Given the description of an element on the screen output the (x, y) to click on. 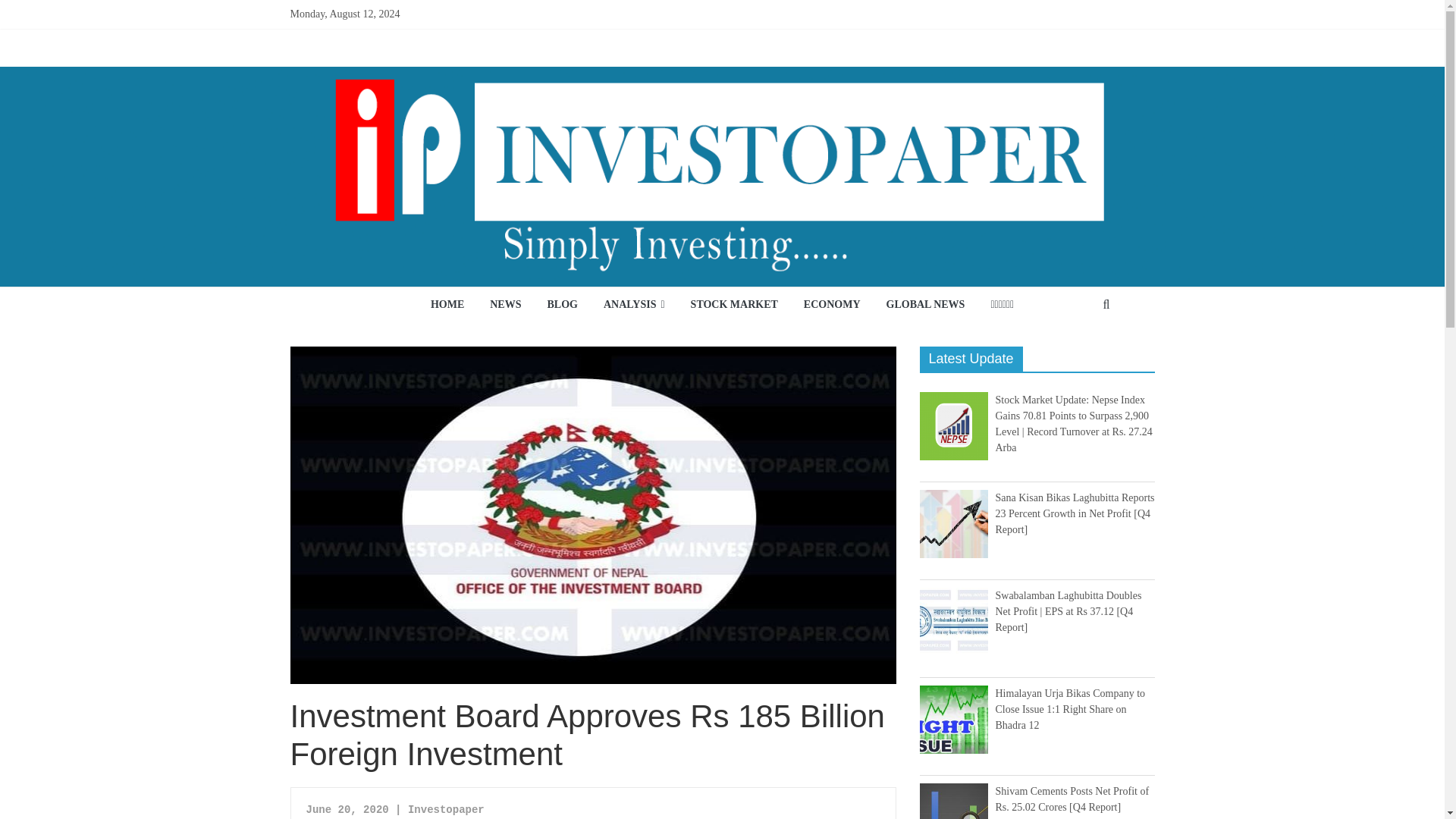
GLOBAL NEWS (925, 305)
STOCK MARKET (734, 305)
BLOG (561, 305)
HOME (447, 305)
NEWS (505, 305)
ANALYSIS (634, 305)
ECONOMY (832, 305)
